Given the description of an element on the screen output the (x, y) to click on. 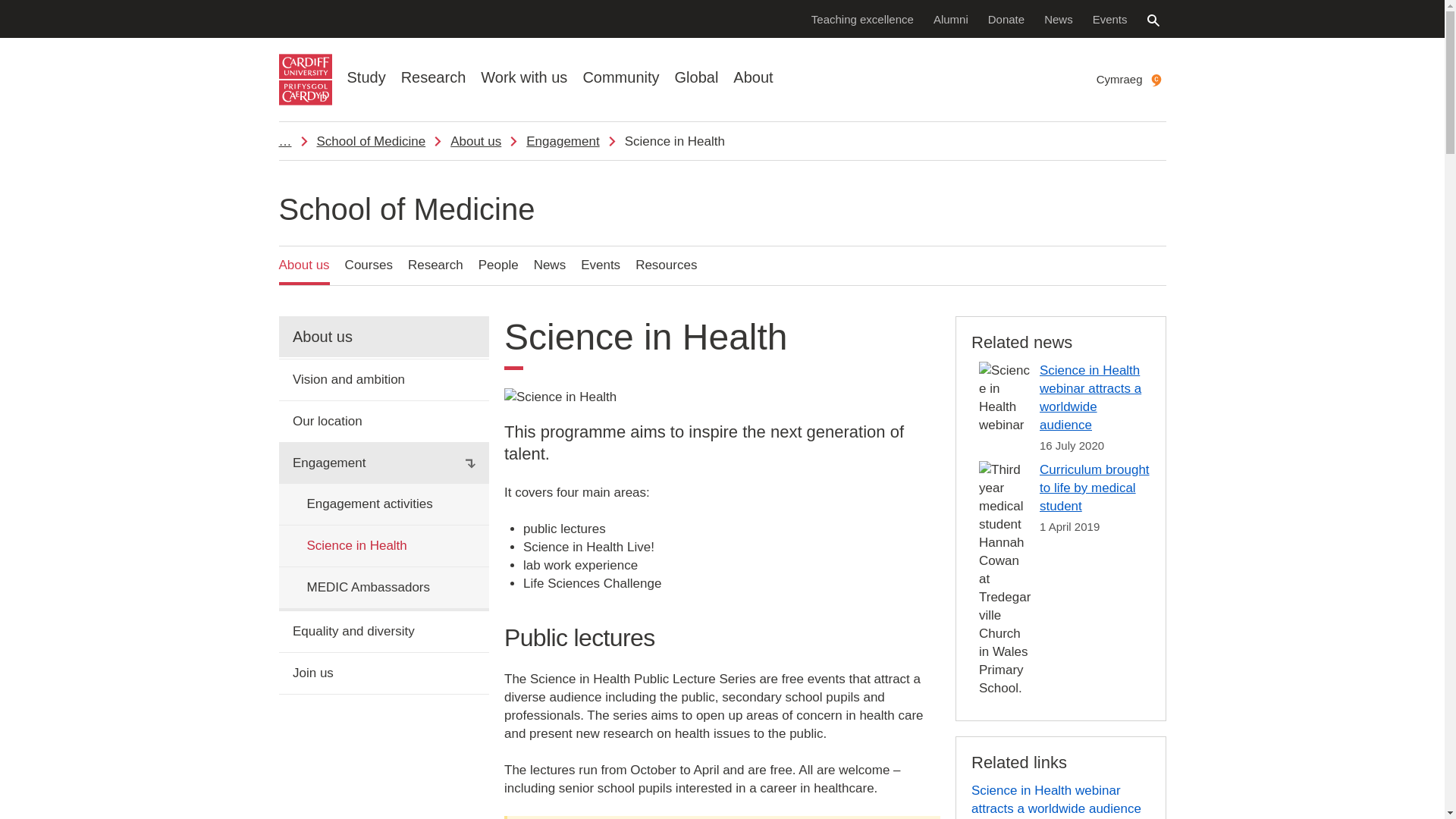
Cardiff University logo (305, 79)
Alumni (951, 19)
Cardiff University logo (305, 79)
News (1058, 19)
Events (1109, 19)
Teaching excellence (862, 19)
Donate (1005, 19)
Search (1152, 20)
cymraeg (1155, 80)
